Given the description of an element on the screen output the (x, y) to click on. 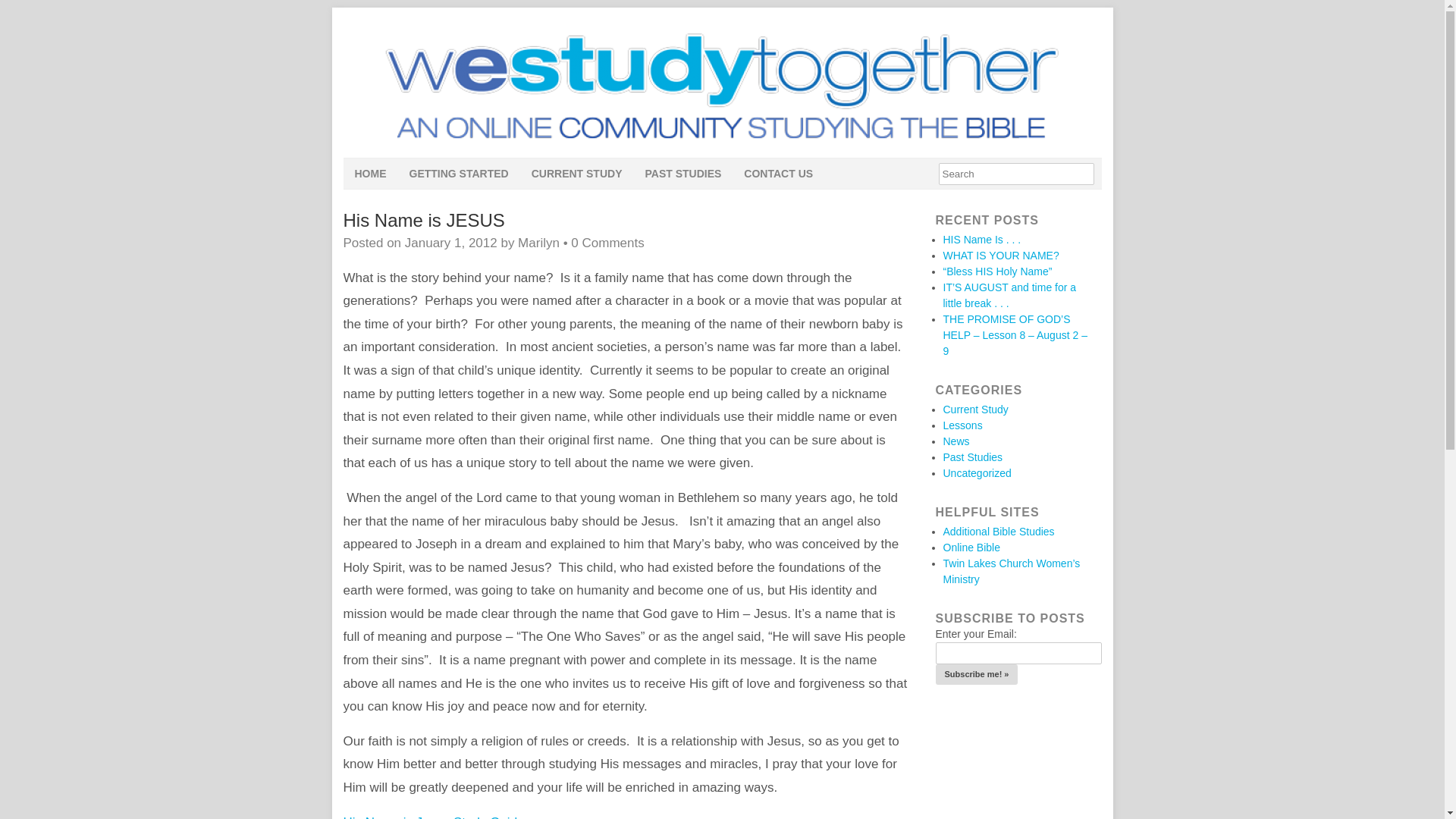
His Name is Jesus Study Guide (433, 816)
Search (1016, 173)
GETTING STARTED (458, 173)
PAST STUDIES (682, 173)
View all posts by Marilyn (538, 242)
CURRENT STUDY (576, 173)
Additional Bible Studies (998, 531)
HOME (369, 173)
Lessons (962, 425)
Current Study (976, 409)
